Given the description of an element on the screen output the (x, y) to click on. 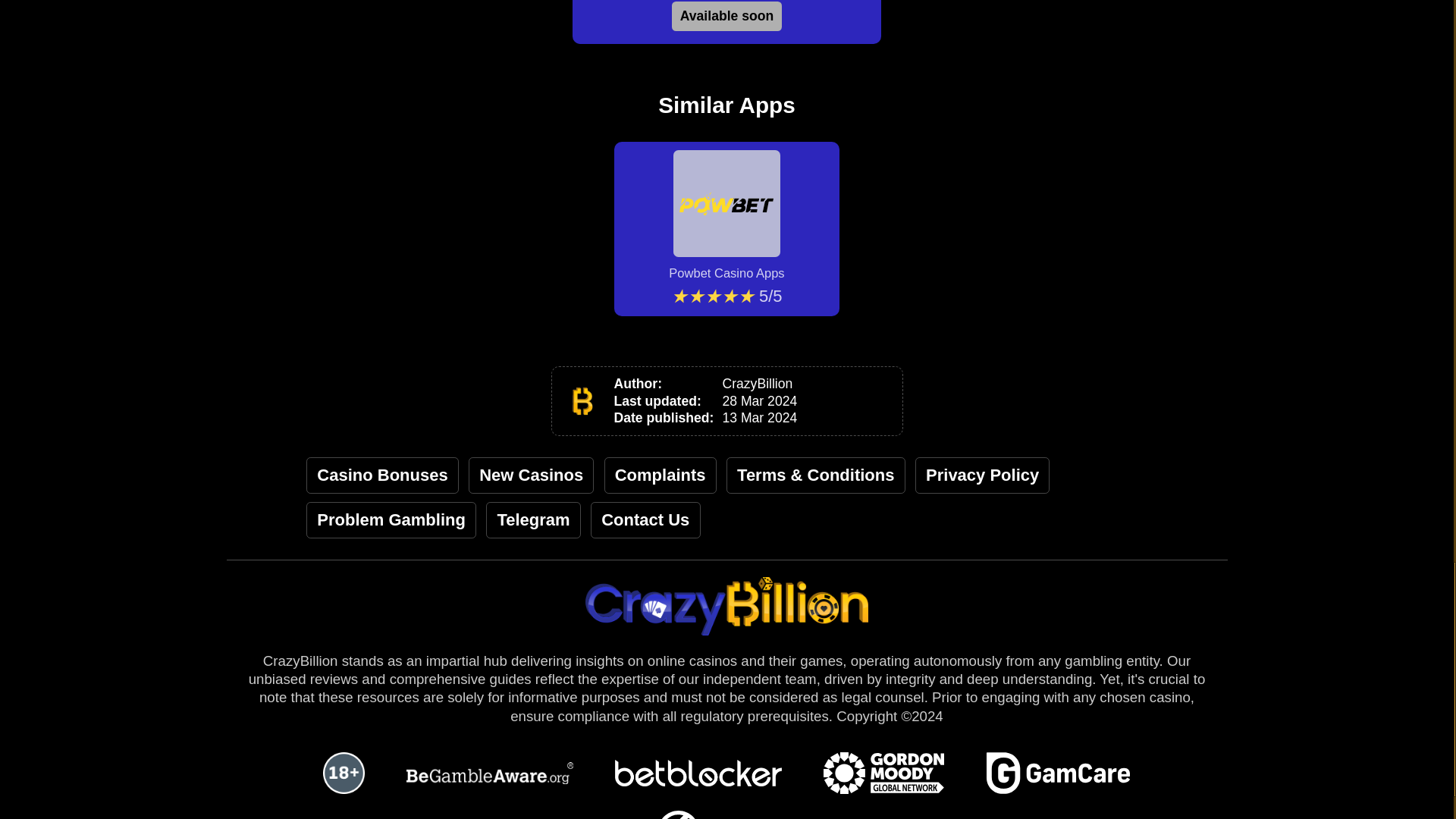
Powbet Casino Apps (727, 215)
